Given the description of an element on the screen output the (x, y) to click on. 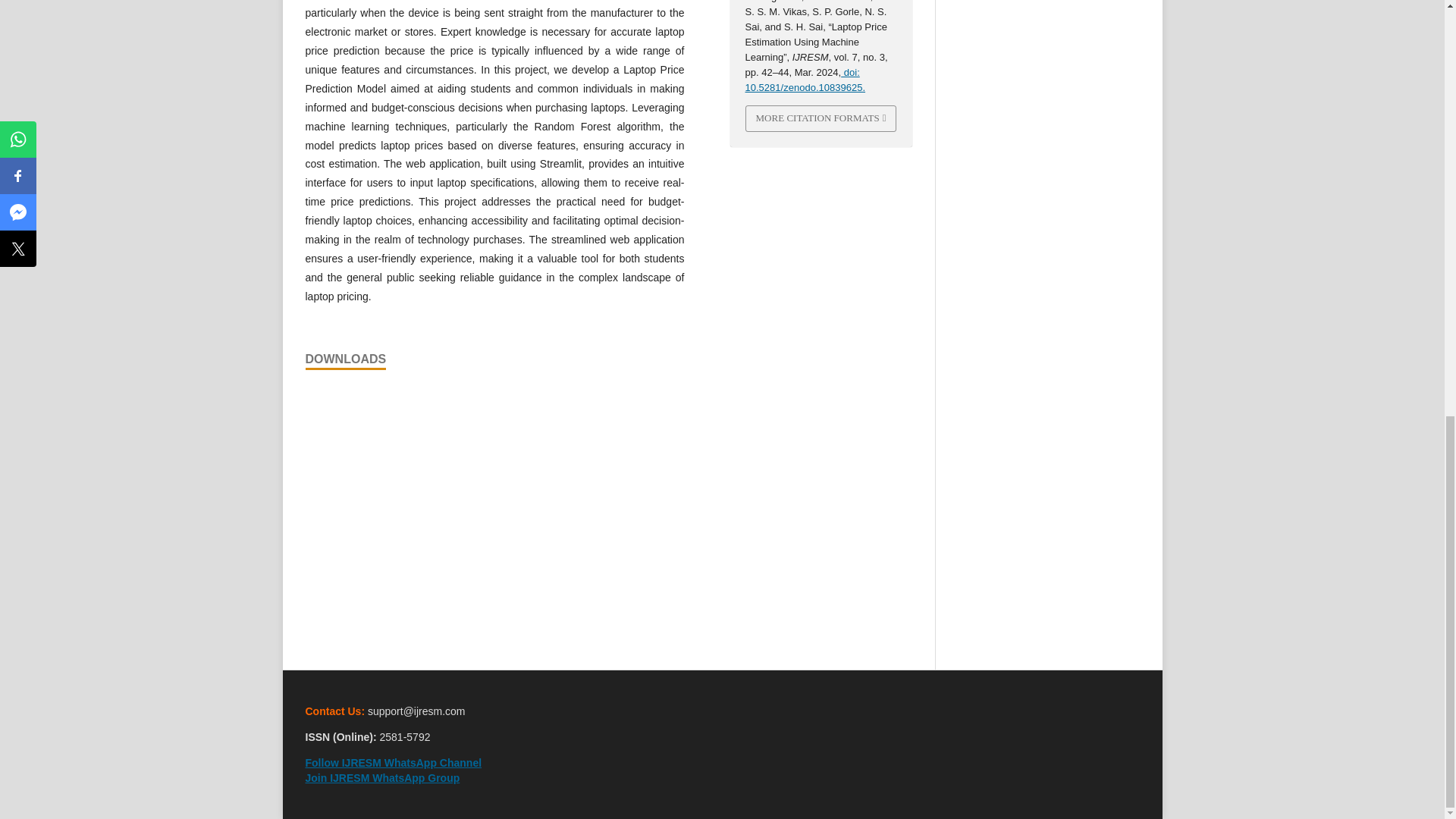
MORE CITATION FORMATS (820, 118)
